Given the description of an element on the screen output the (x, y) to click on. 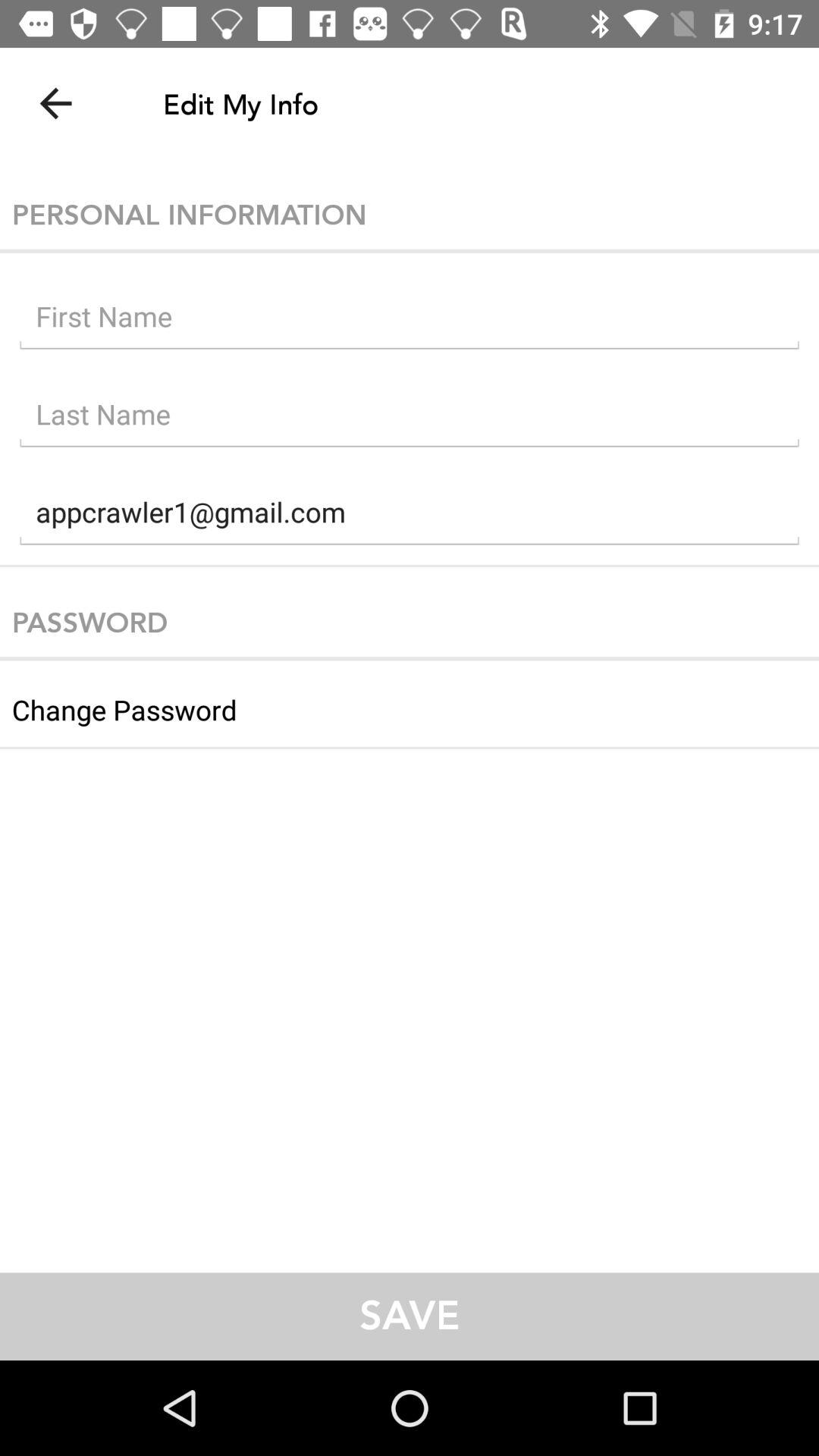
launch change password item (409, 703)
